Given the description of an element on the screen output the (x, y) to click on. 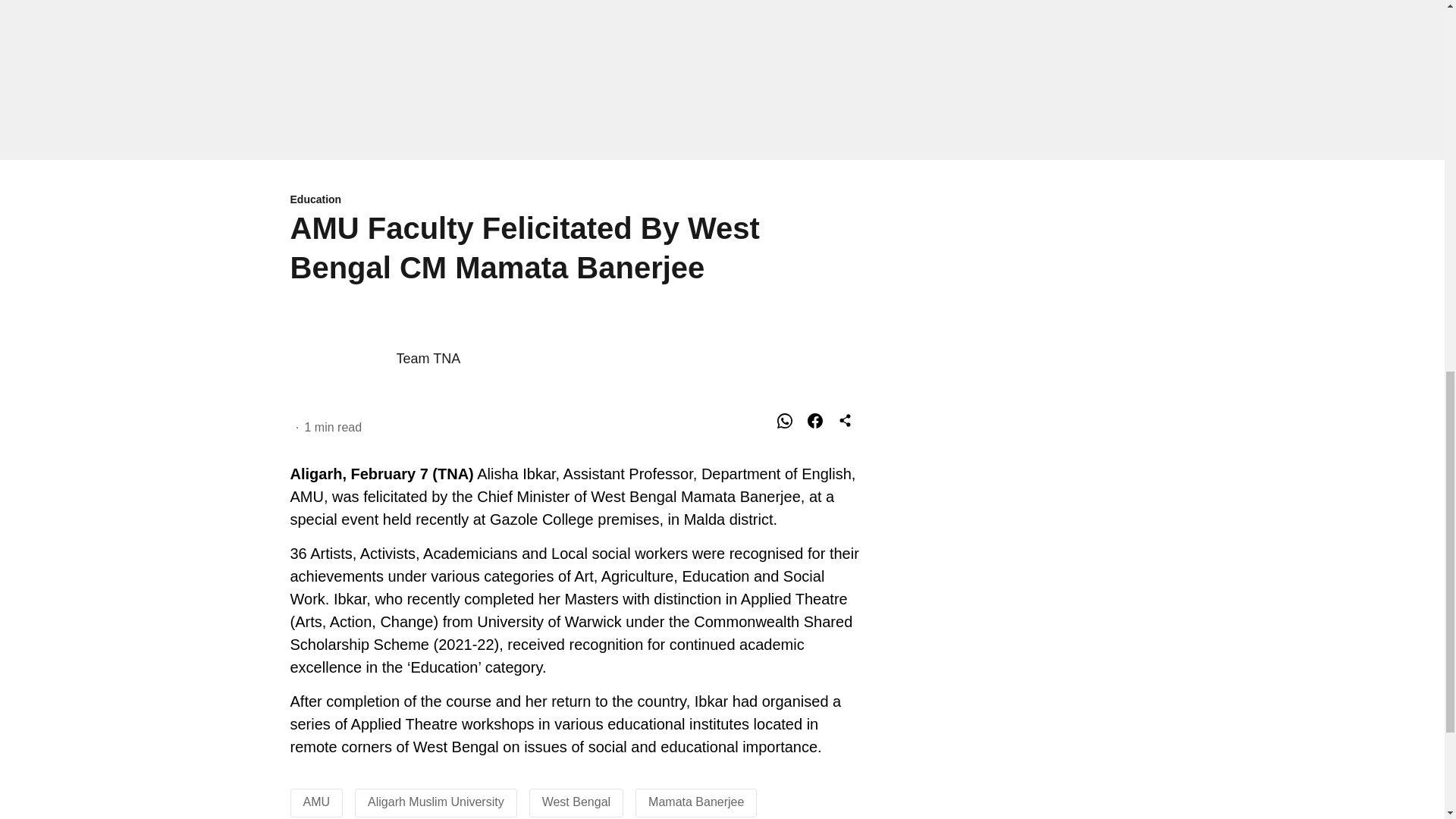
AMU (316, 801)
Team TNA (428, 358)
Education (574, 200)
